Given the description of an element on the screen output the (x, y) to click on. 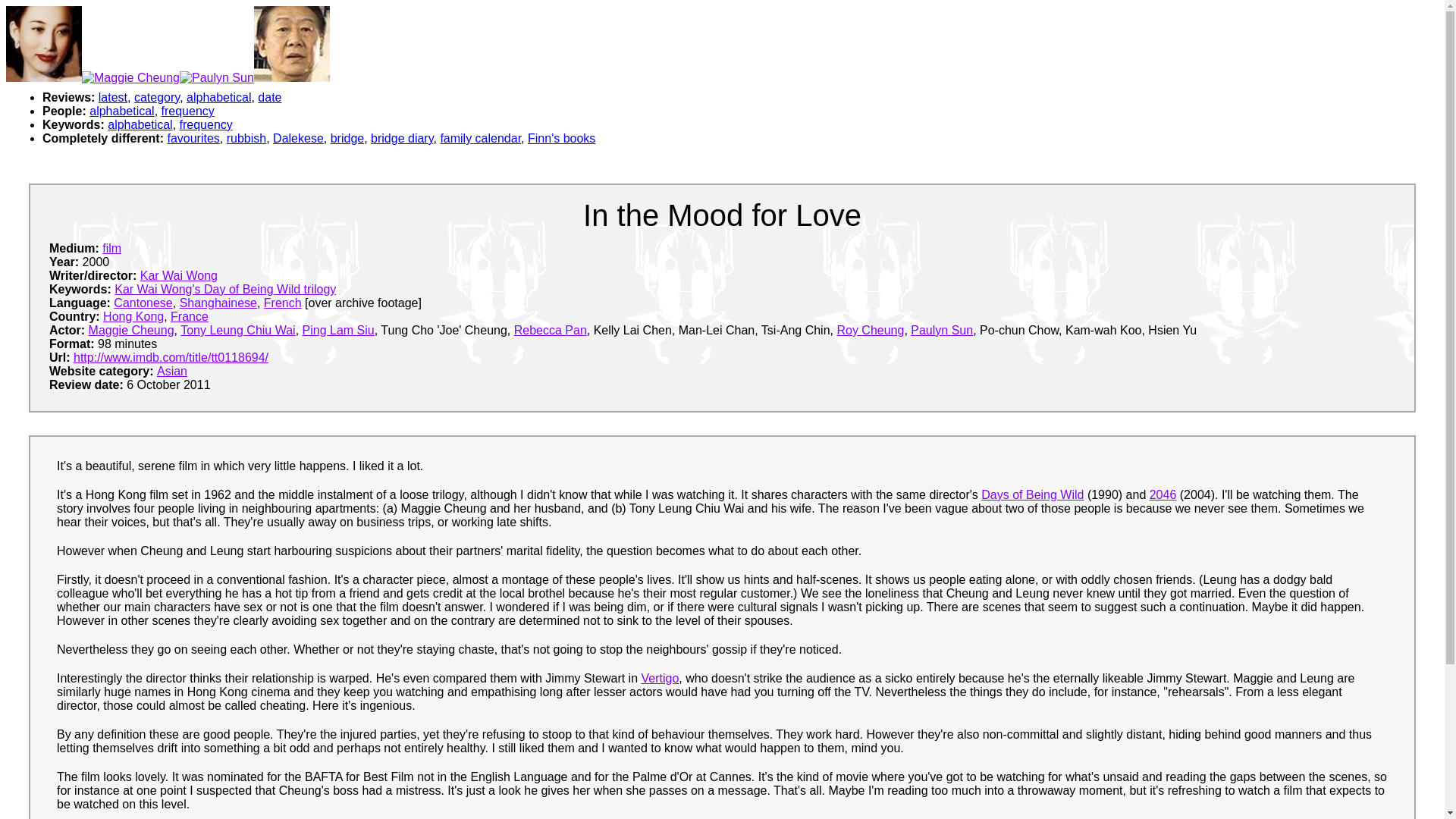
Paulyn Sun (941, 329)
Days of Being Wild (1032, 494)
Tony Leung Chiu Wai (237, 329)
film (110, 247)
Hong Kong (133, 316)
Kar Wai Wong (177, 275)
Roy Cheung (869, 329)
Ping Lam Siu (338, 329)
Vertigo (660, 677)
Rebecca Pan (549, 329)
Maggie Cheung (131, 329)
Asian (172, 370)
Shanghainese (218, 302)
Cantonese (142, 302)
2046 (1163, 494)
